Given the description of an element on the screen output the (x, y) to click on. 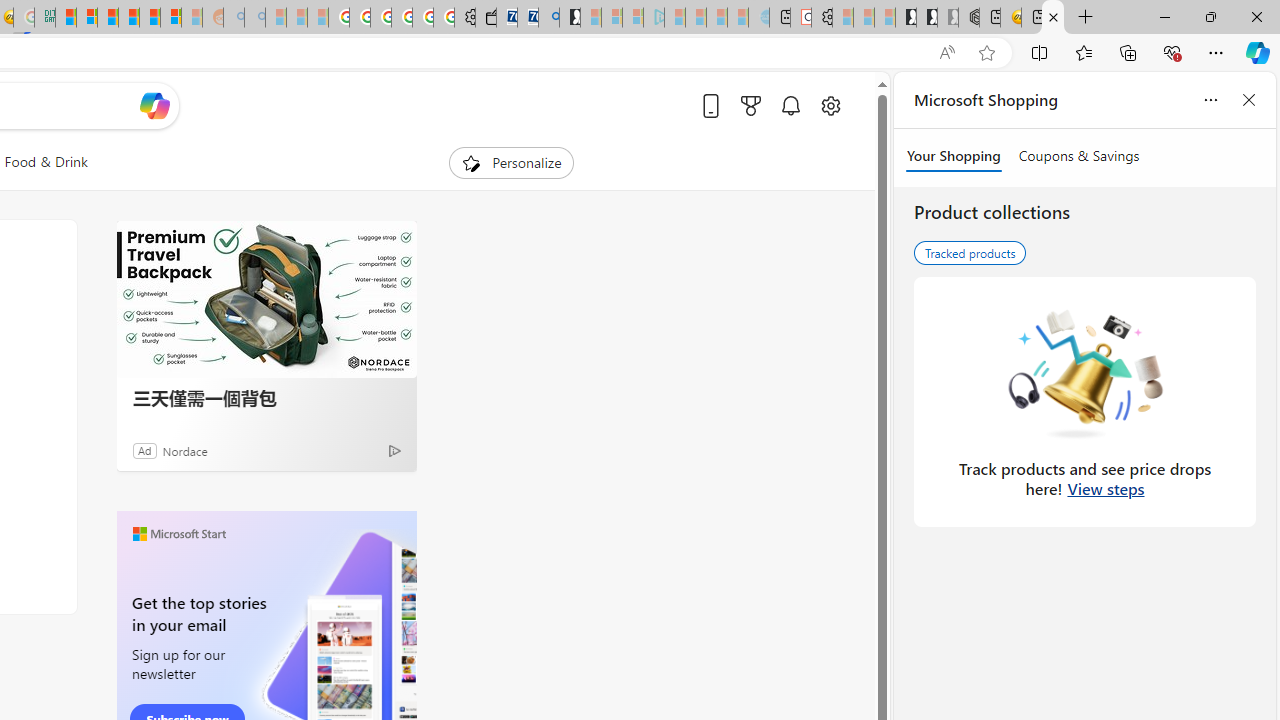
Food & Drink (45, 162)
Microsoft rewards (749, 105)
Local - MSN (1053, 17)
Personalize (511, 162)
Kinda Frugal - MSN (149, 17)
